Given the description of an element on the screen output the (x, y) to click on. 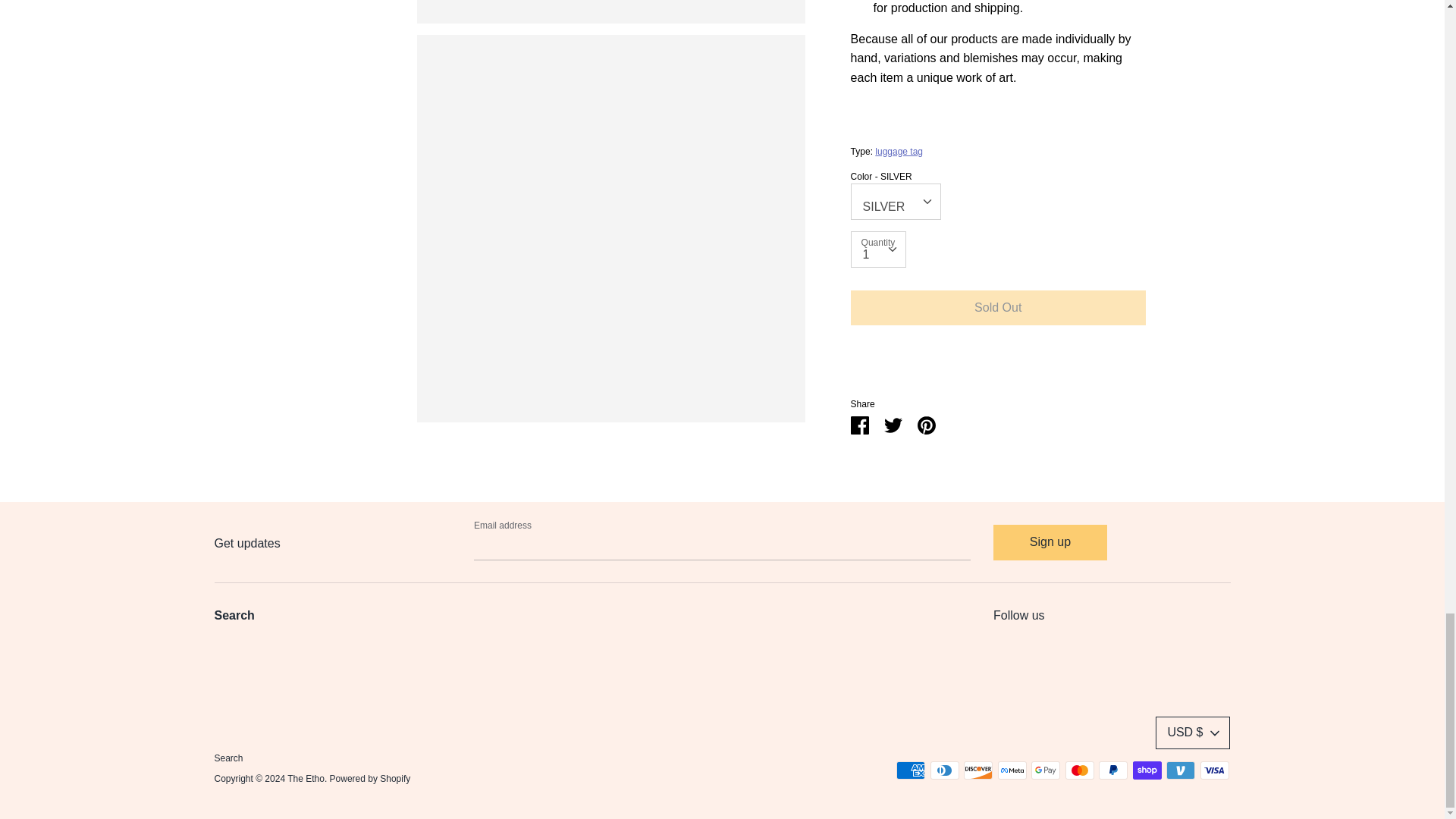
Visa (1213, 770)
Shop Pay (1146, 770)
PayPal (1112, 770)
Meta Pay (1011, 770)
Discover (977, 770)
Google Pay (1044, 770)
Diners Club (944, 770)
American Express (910, 770)
Venmo (1180, 770)
Mastercard (1079, 770)
